Given the description of an element on the screen output the (x, y) to click on. 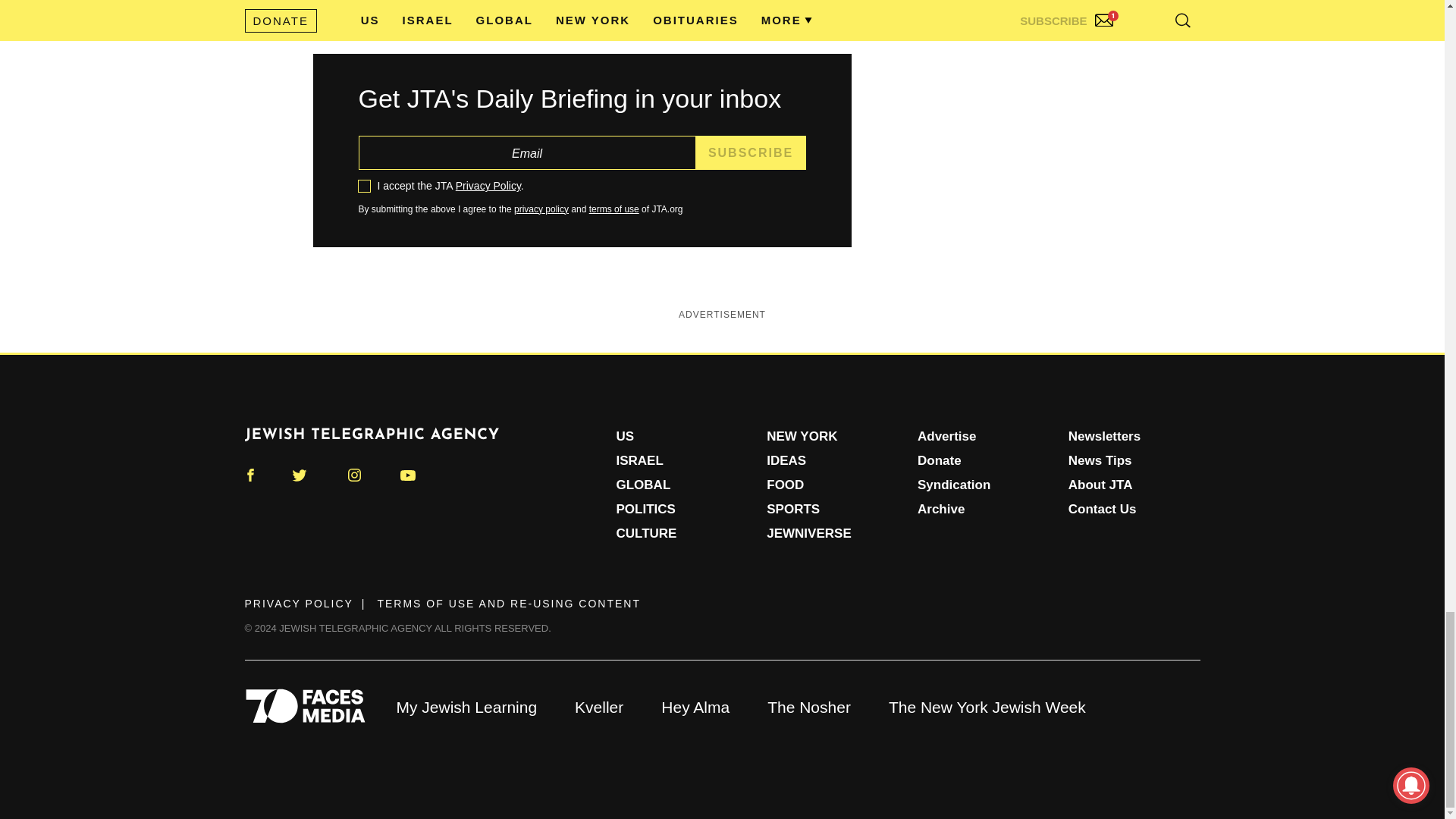
Subscribe (750, 152)
